Given the description of an element on the screen output the (x, y) to click on. 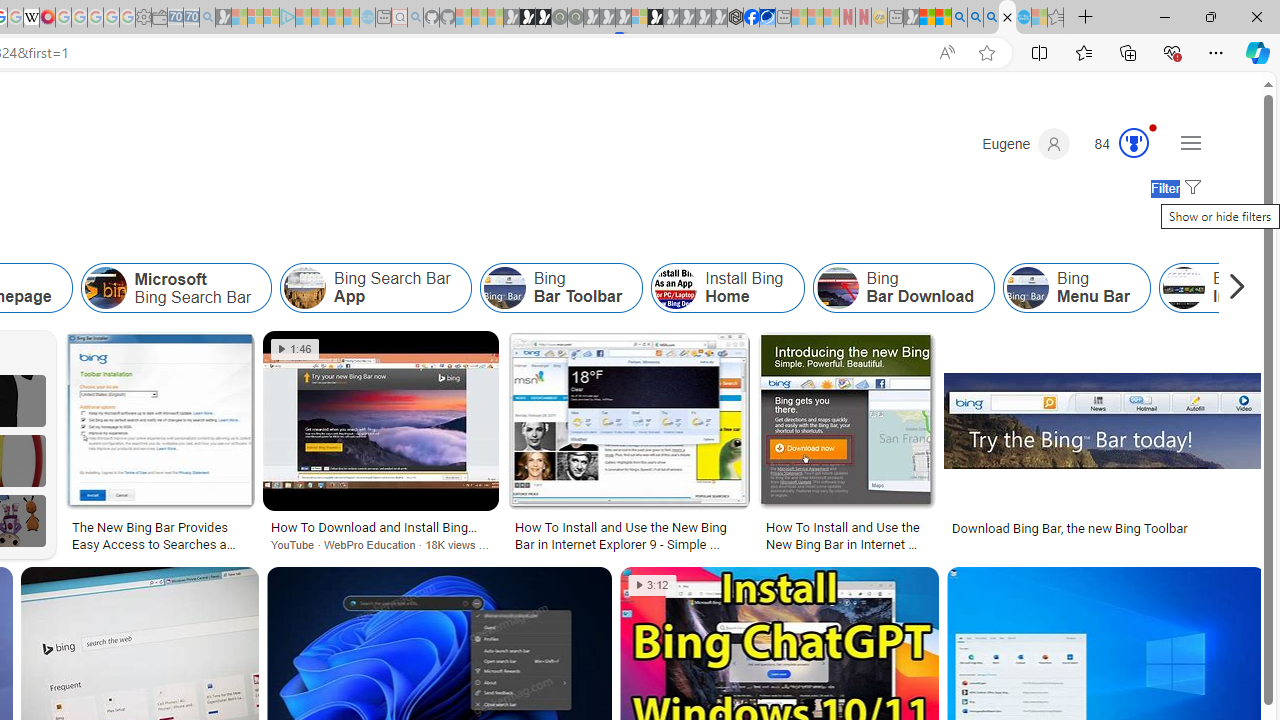
Download Bing Bar, the new Bing ToolbarSave (1104, 444)
Bing Image Search Not Working (1183, 287)
MSN - Sleeping (911, 17)
